Given the description of an element on the screen output the (x, y) to click on. 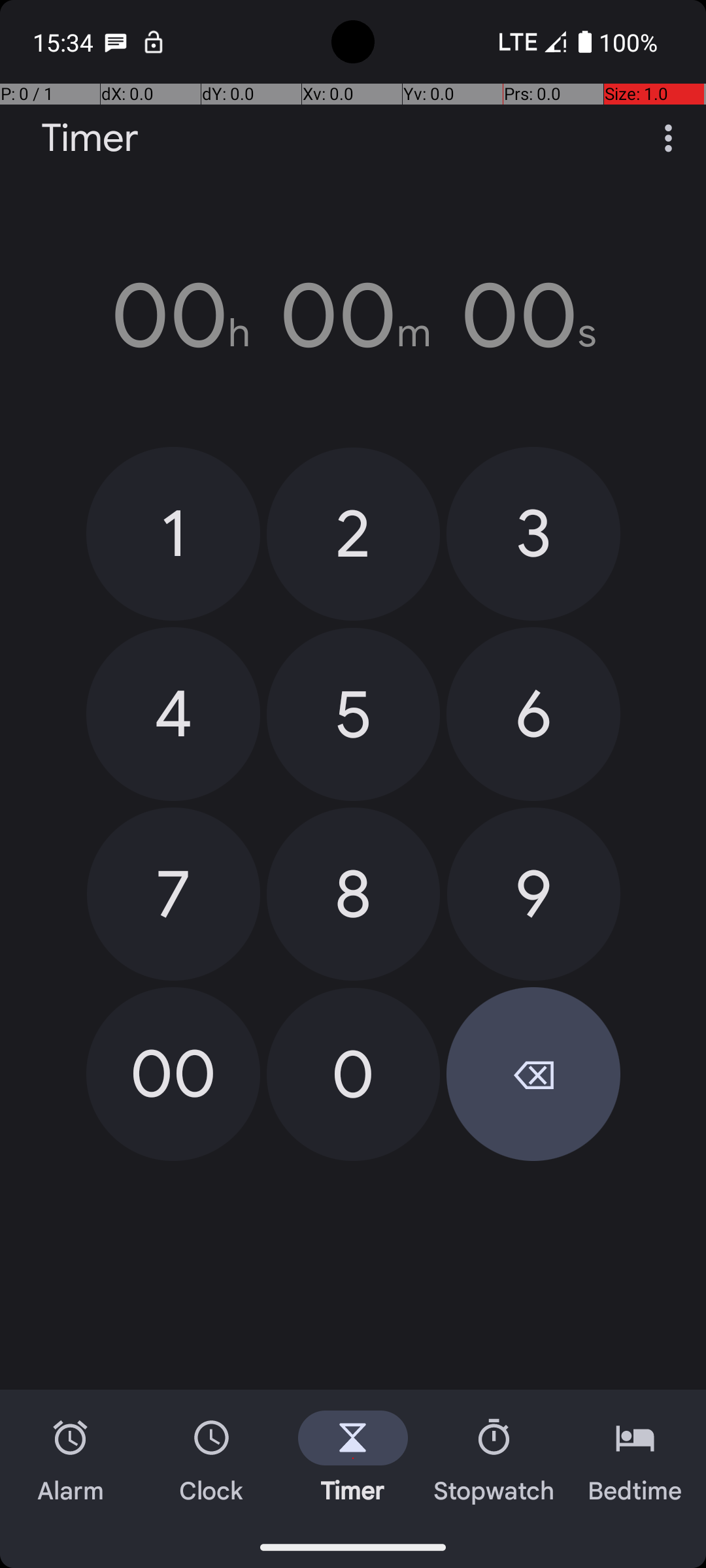
Tasks notification: Connection security Element type: android.widget.ImageView (153, 41)
